Given the description of an element on the screen output the (x, y) to click on. 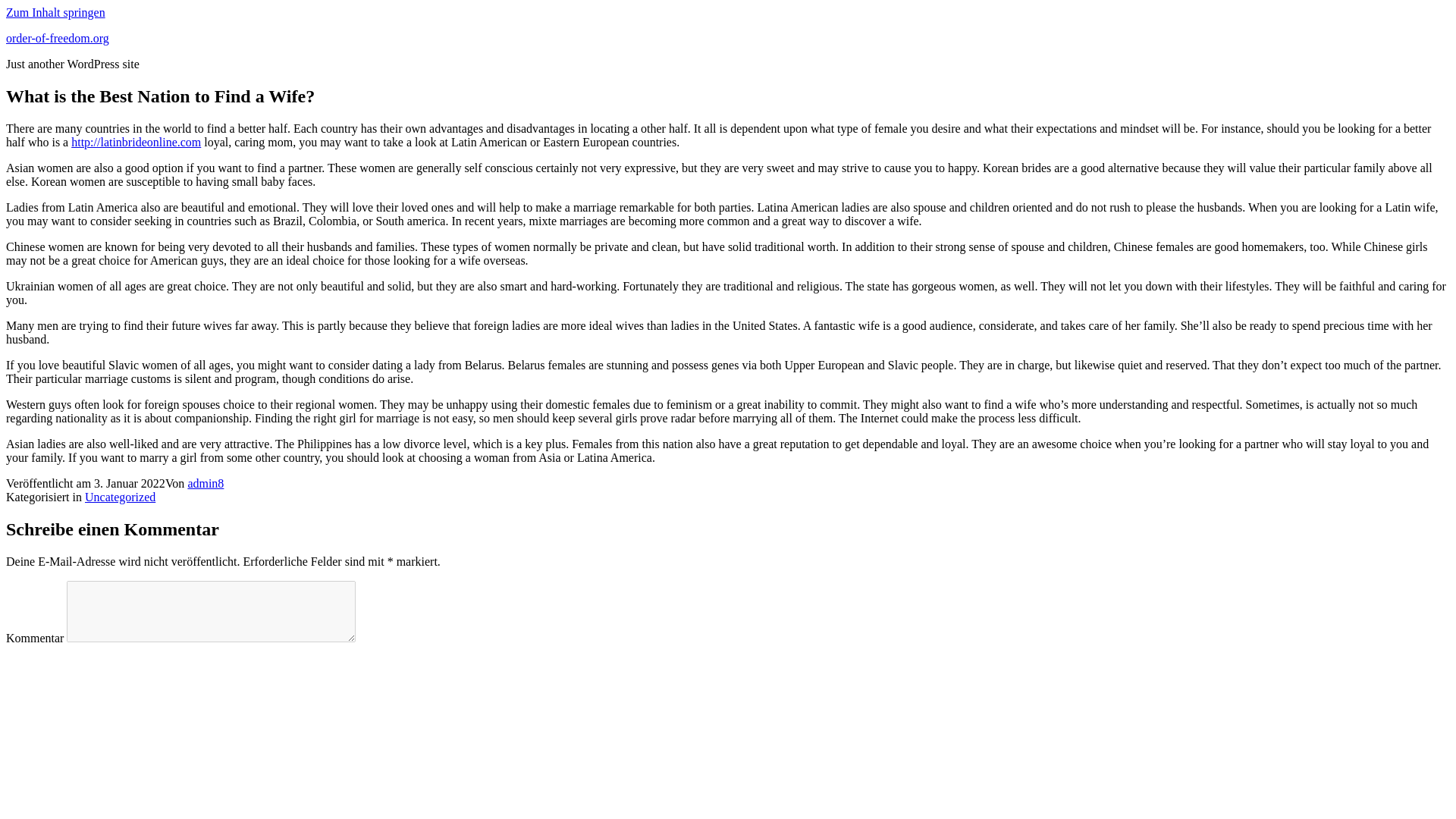
Zum Inhalt springen (54, 11)
Uncategorized (119, 496)
admin8 (205, 482)
order-of-freedom.org (57, 38)
